Given the description of an element on the screen output the (x, y) to click on. 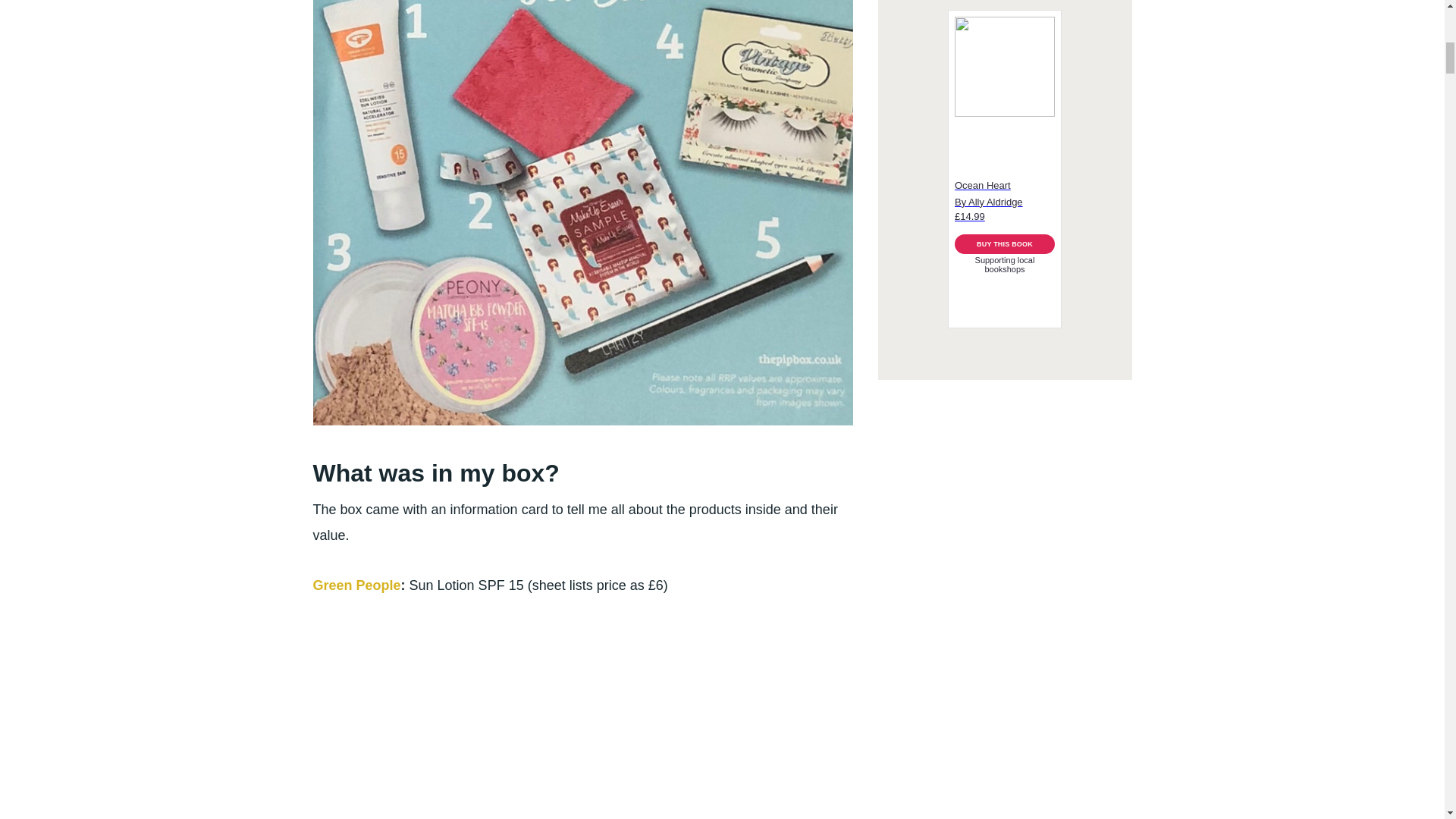
Green People (356, 585)
